Given the description of an element on the screen output the (x, y) to click on. 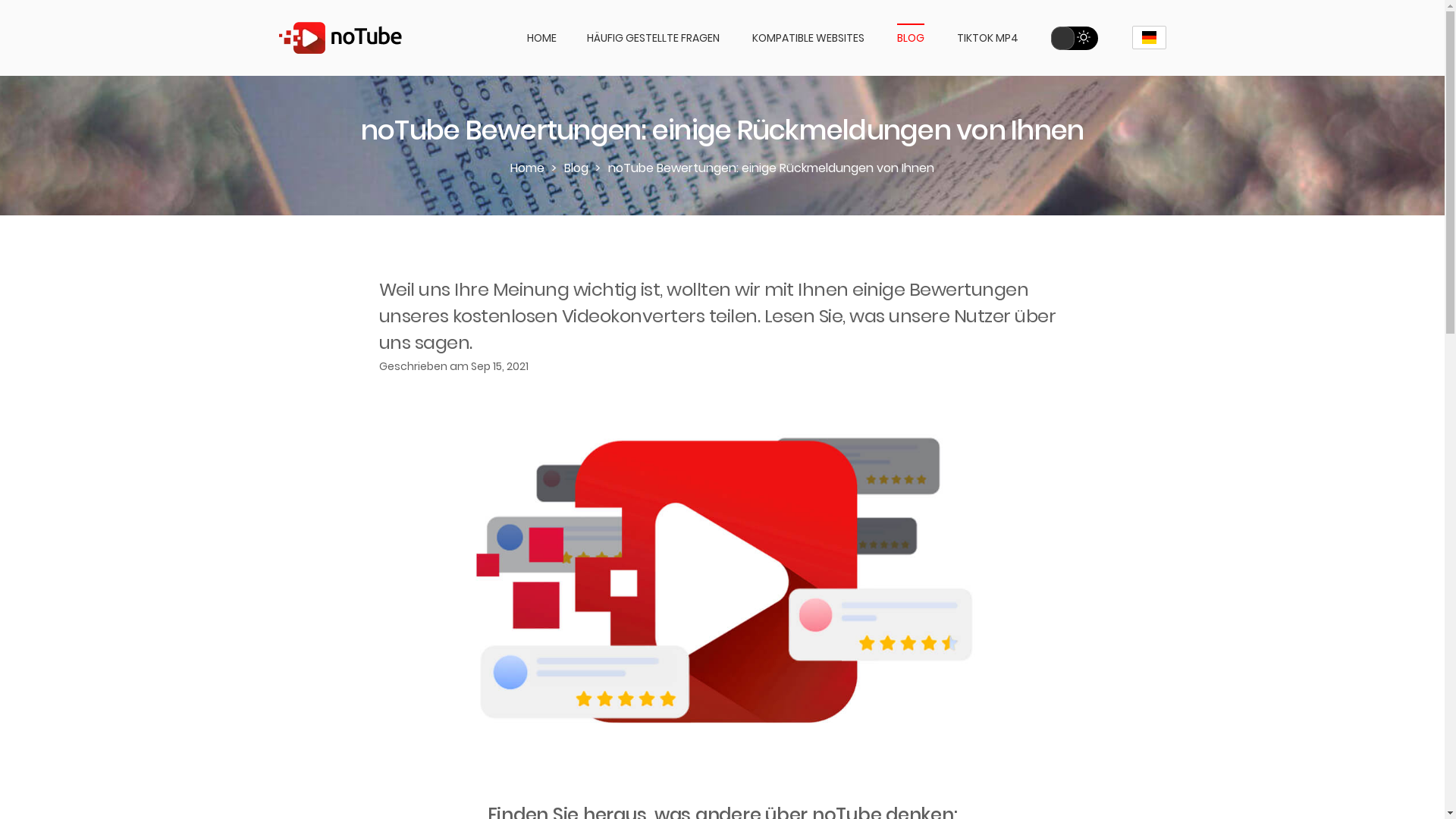
BLOG Element type: text (909, 37)
Blog Element type: text (576, 167)
HOME Element type: text (540, 37)
Home Element type: text (527, 167)
KOMPATIBLE WEBSITES Element type: text (808, 37)
TIKTOK MP4 Element type: text (987, 37)
